Given the description of an element on the screen output the (x, y) to click on. 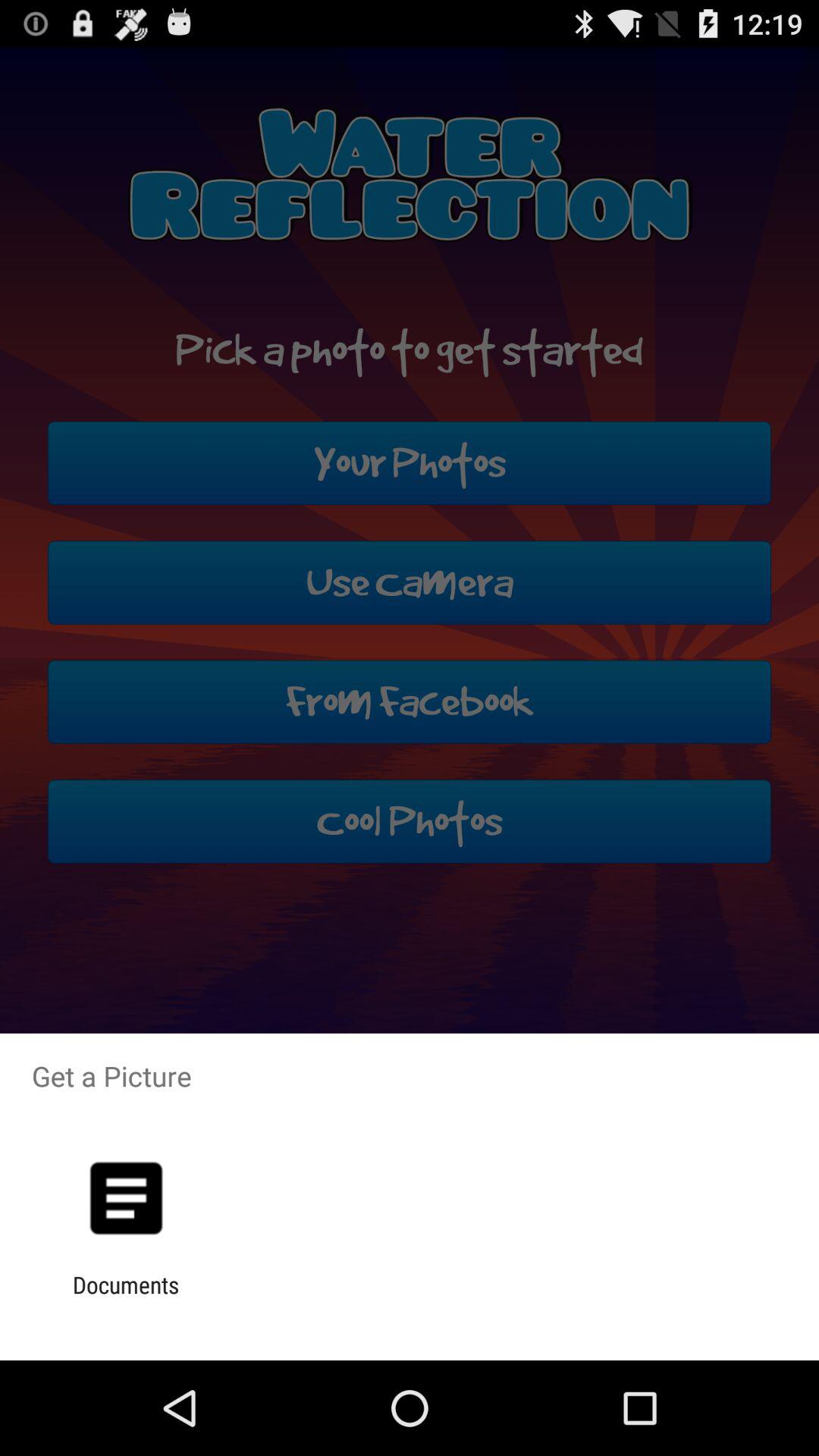
jump to documents app (125, 1298)
